Given the description of an element on the screen output the (x, y) to click on. 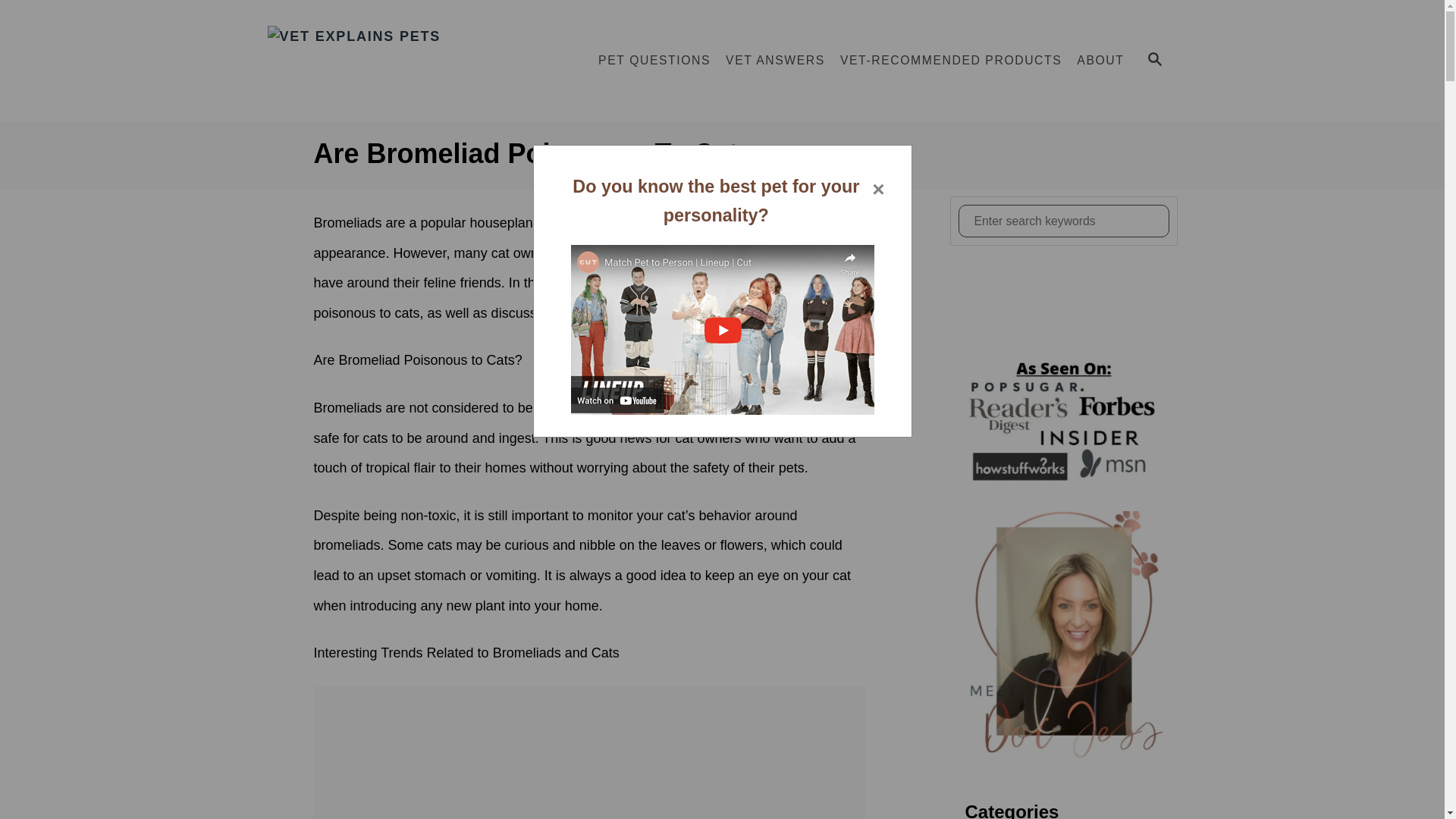
SEARCH (1153, 60)
ABOUT (1099, 60)
VET ANSWERS (774, 60)
Search for: (1063, 220)
Search (22, 22)
VET-RECOMMENDED PRODUCTS (950, 60)
Vet Explains Pets (403, 60)
PET QUESTIONS (654, 60)
